Given the description of an element on the screen output the (x, y) to click on. 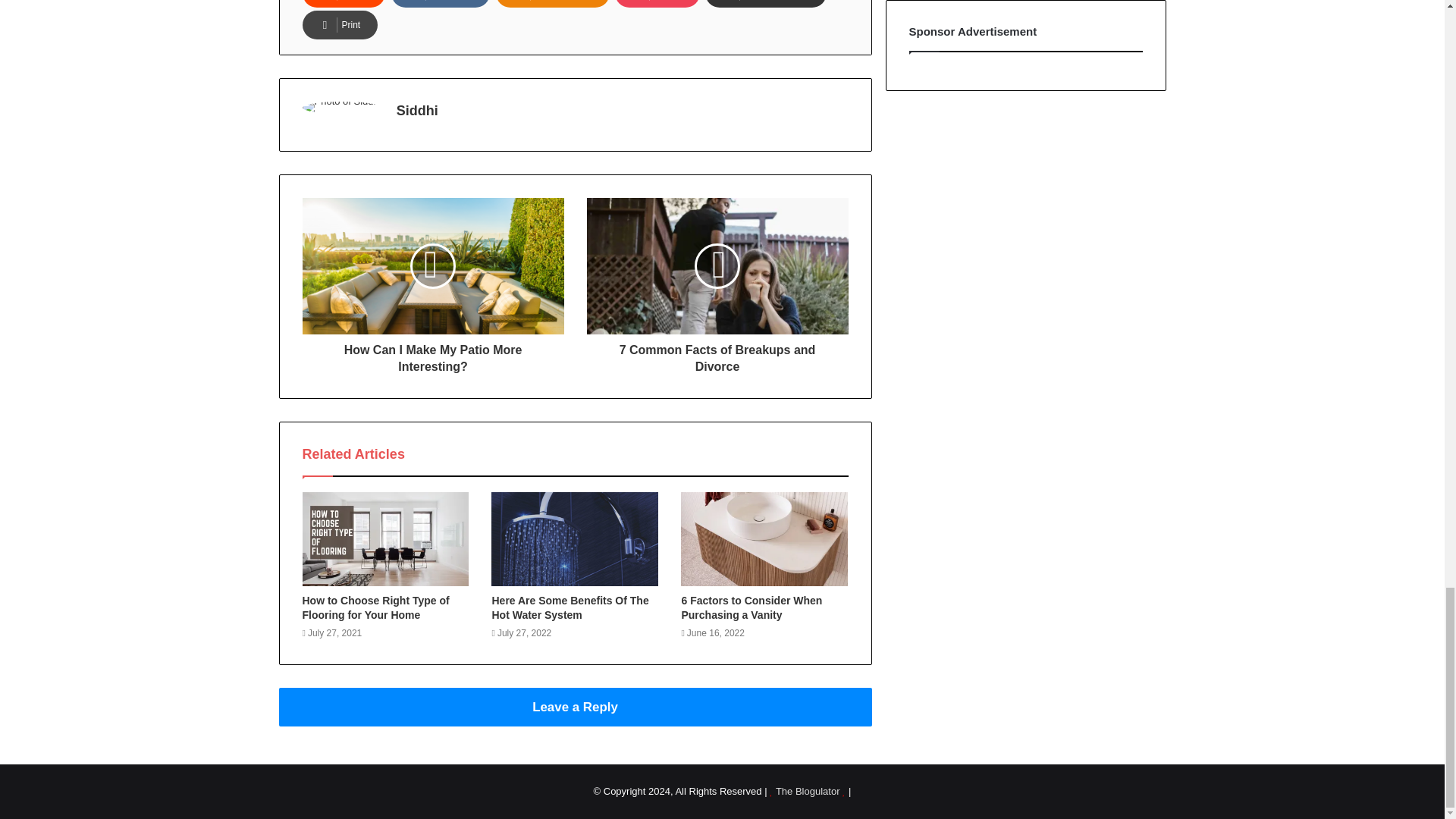
Reddit (343, 3)
VKontakte (440, 3)
